Given the description of an element on the screen output the (x, y) to click on. 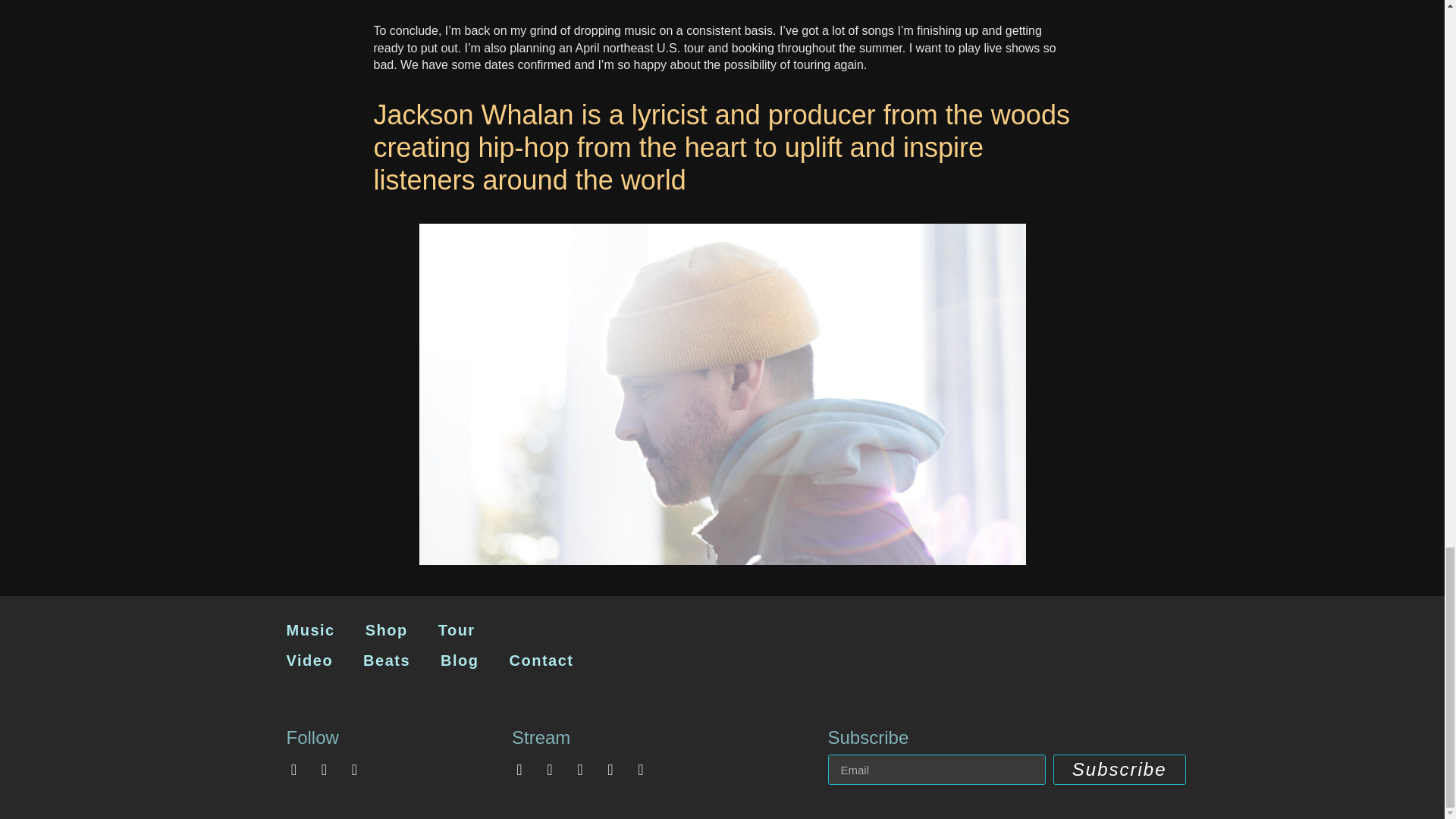
Contact (542, 660)
Music (310, 630)
Tour (456, 630)
Video (309, 660)
Shop (386, 630)
Beats (386, 660)
Blog (459, 660)
